Given the description of an element on the screen output the (x, y) to click on. 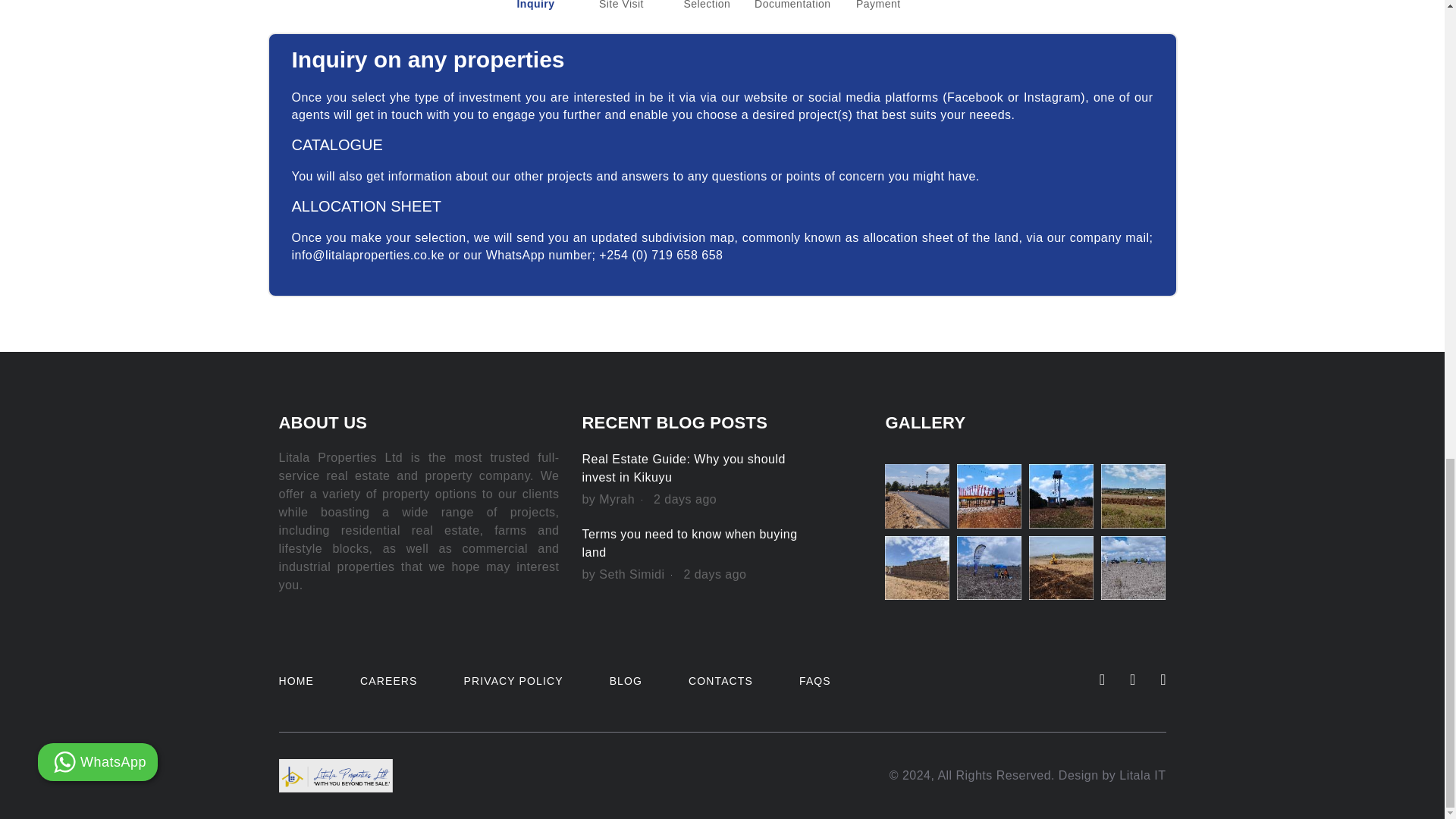
Selection (706, 6)
Payment (877, 6)
HOME (296, 680)
CAREERS (388, 680)
FAQS (815, 680)
Inquiry (535, 6)
Documentation (791, 6)
Site Visit (620, 6)
PRIVACY POLICY (513, 680)
BLOG (626, 680)
Instagram (1051, 97)
CONTACTS (720, 680)
Real Estate Guide: Why you should invest in Kikuyu (682, 468)
Facebook (975, 97)
Terms you need to know when buying land (688, 542)
